Given the description of an element on the screen output the (x, y) to click on. 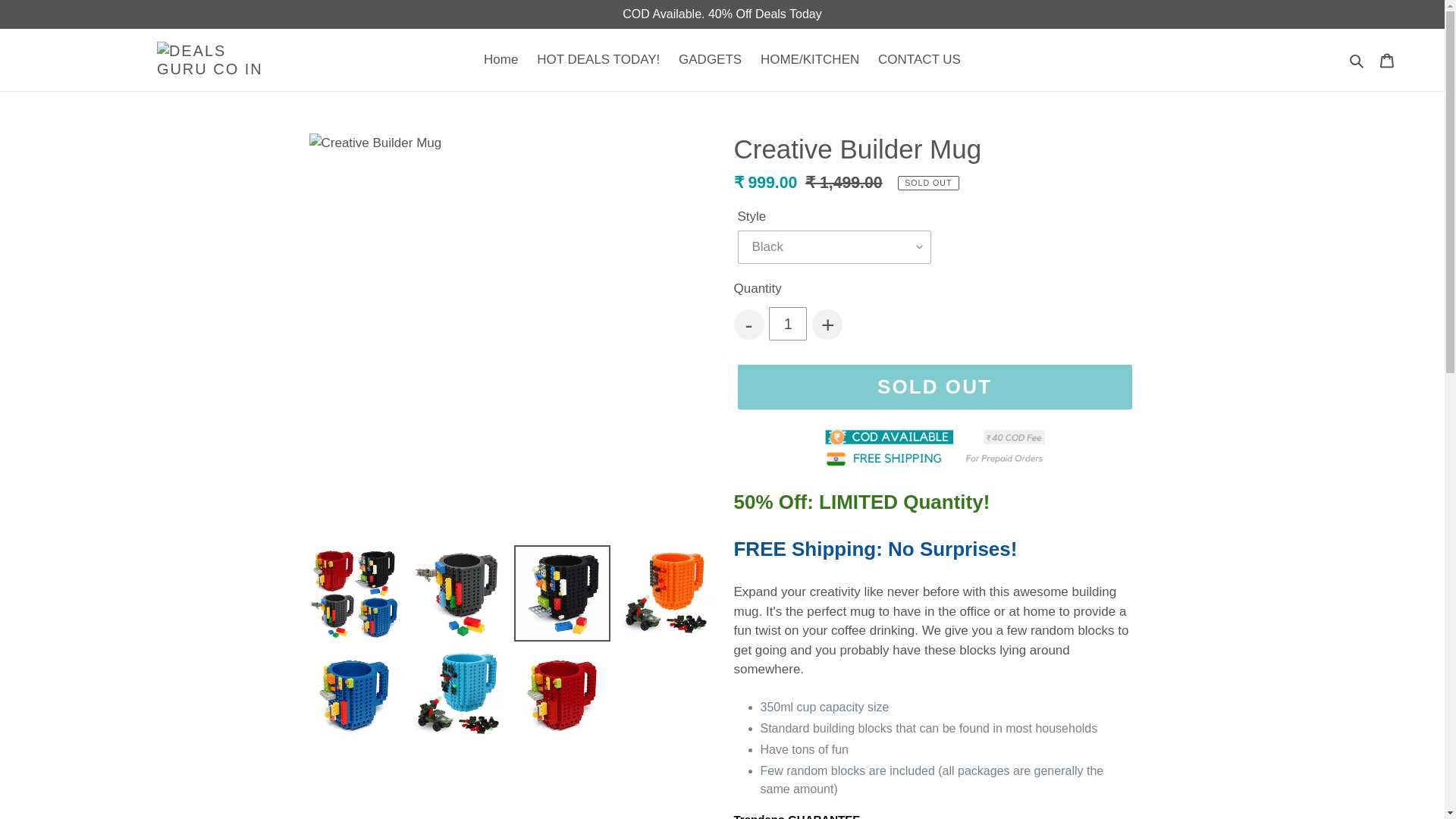
CONTACT US (919, 59)
Search (1357, 59)
HOT DEALS TODAY! (597, 59)
SOLD OUT (933, 386)
GADGETS (710, 59)
Cart (1387, 59)
Home (500, 59)
1 (787, 323)
